Given the description of an element on the screen output the (x, y) to click on. 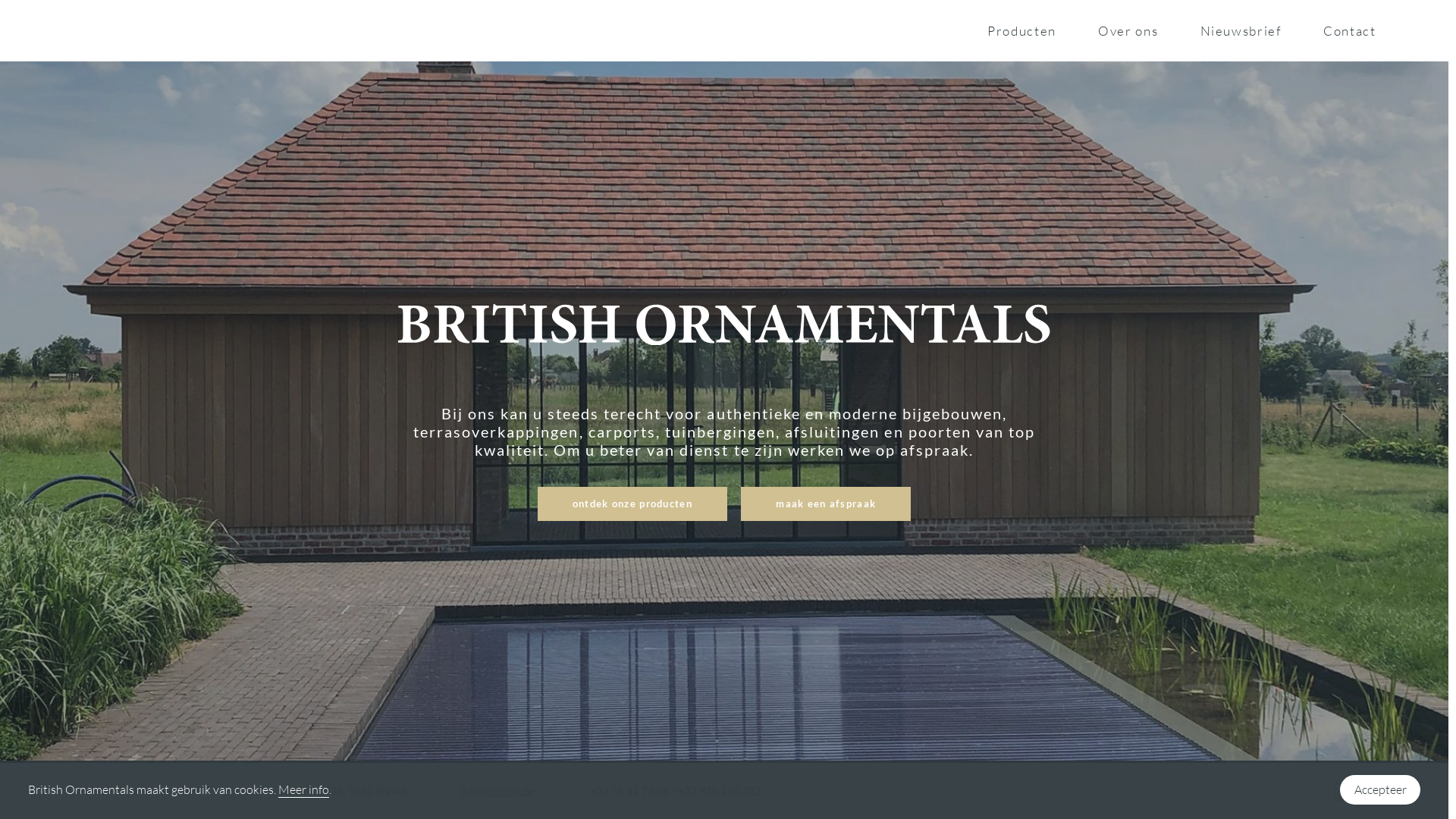
Contact Element type: text (1349, 30)
Accepteer Element type: text (1379, 789)
info@brit-orn.be Element type: text (497, 790)
Nieuwsbrief Element type: text (1239, 30)
Website by Tallieu & Tallieu Element type: hover (1354, 791)
+32 55 42 76 08 / +32 475 260 322 Element type: text (675, 790)
Meer info Element type: text (303, 789)
maak een afspraak Element type: text (825, 503)
ontdek onze producten Element type: text (632, 503)
Producten Element type: text (1021, 30)
Over ons Element type: text (1127, 30)
